Given the description of an element on the screen output the (x, y) to click on. 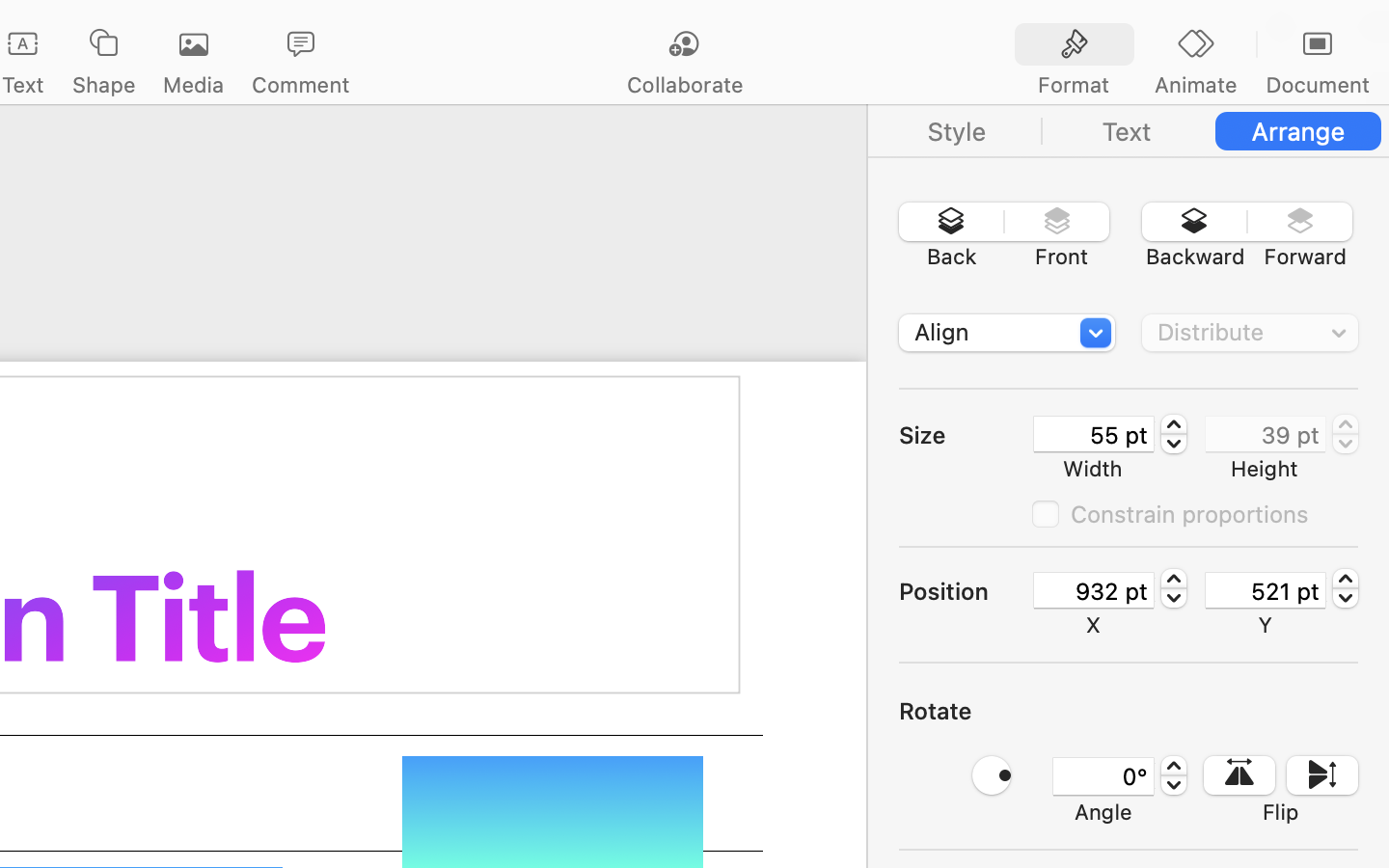
Animate Element type: AXStaticText (1194, 84)
521 pt Element type: AXTextField (1265, 589)
X Element type: AXStaticText (1093, 624)
Y Element type: AXStaticText (1265, 624)
Document Element type: AXStaticText (1316, 84)
